Given the description of an element on the screen output the (x, y) to click on. 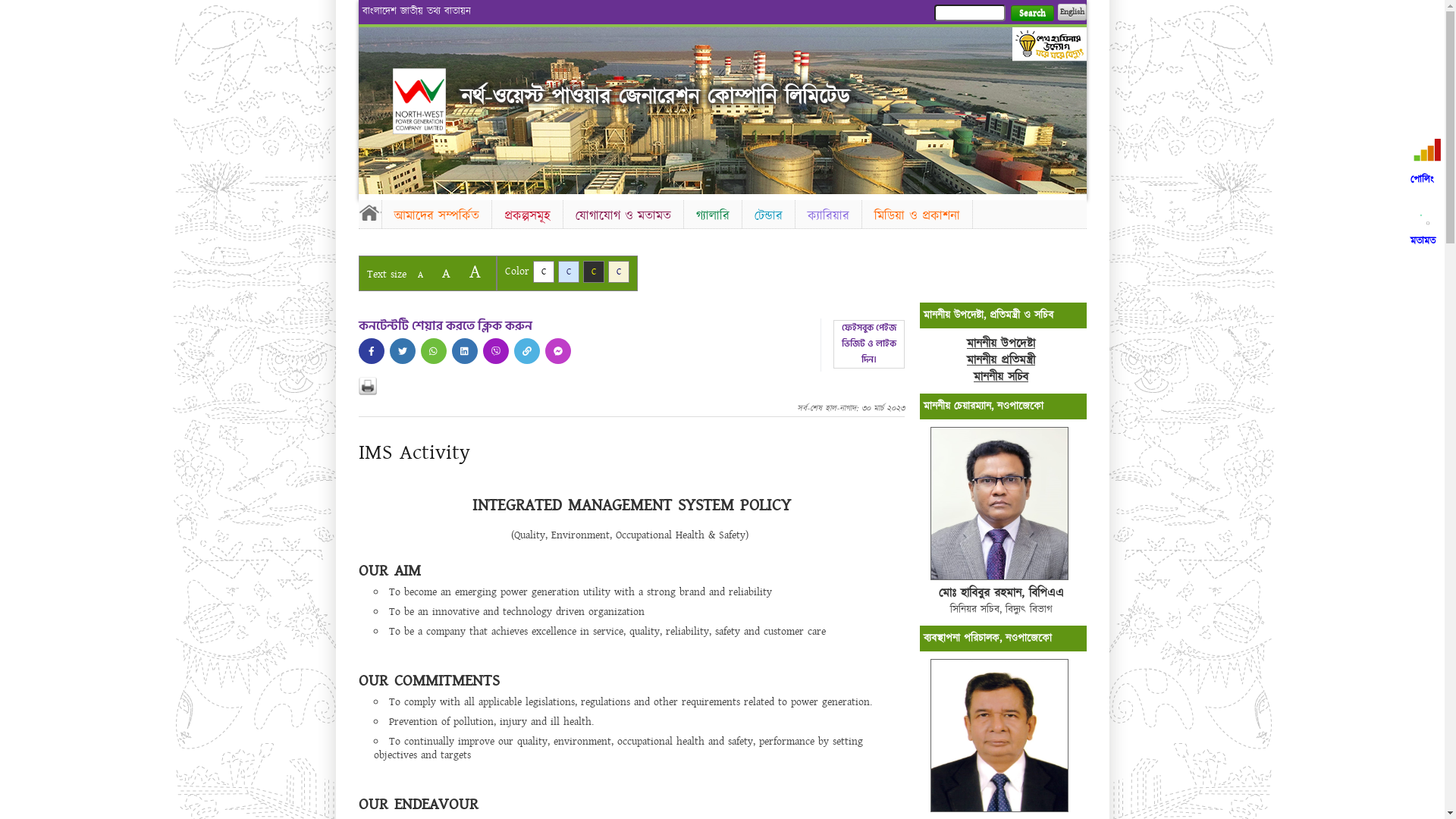
C Element type: text (618, 271)
C Element type: text (592, 271)
Home Element type: hover (418, 101)
C Element type: text (568, 271)
Search Element type: text (1031, 13)
Home Element type: hover (368, 211)
C Element type: text (542, 271)
A Element type: text (474, 271)
A Element type: text (419, 274)
A Element type: text (445, 273)
English Element type: text (1071, 11)
